Given the description of an element on the screen output the (x, y) to click on. 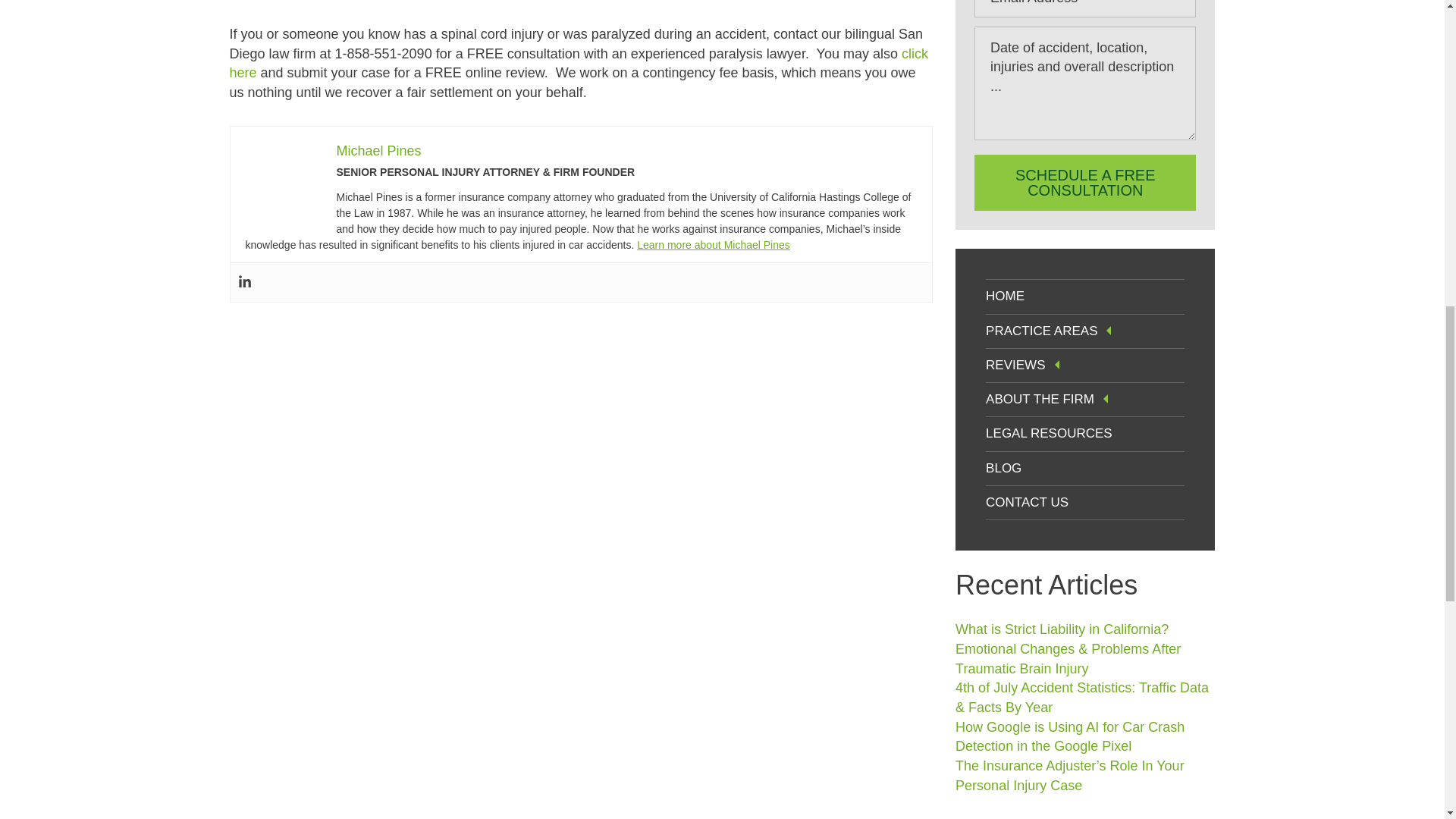
Schedule a Free Consultation (1084, 182)
